Given the description of an element on the screen output the (x, y) to click on. 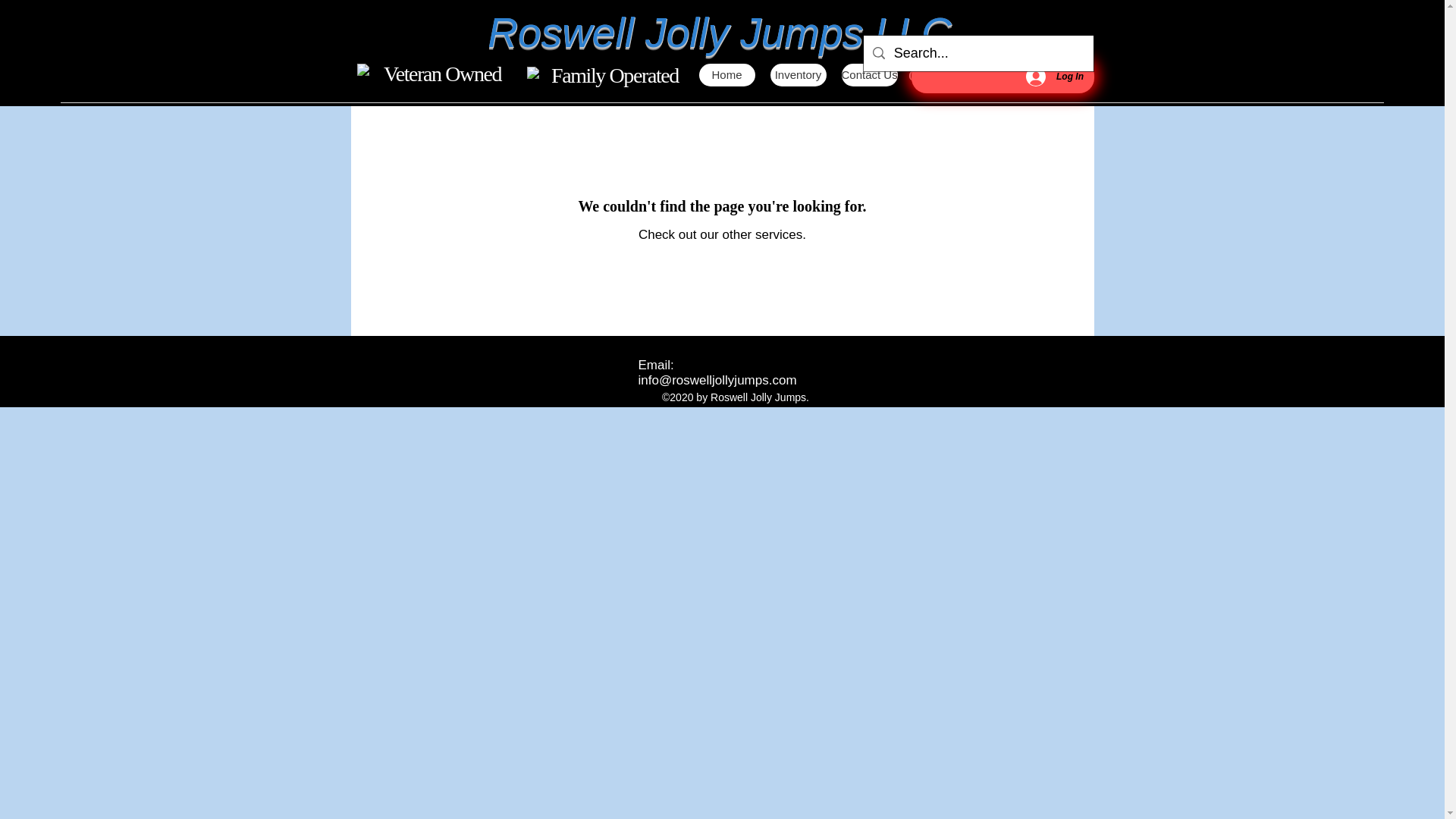
Contact Us (869, 74)
Inventory (798, 74)
Home (726, 74)
Roswell Jolly Jumps LLC (718, 32)
Log In (1054, 76)
